Given the description of an element on the screen output the (x, y) to click on. 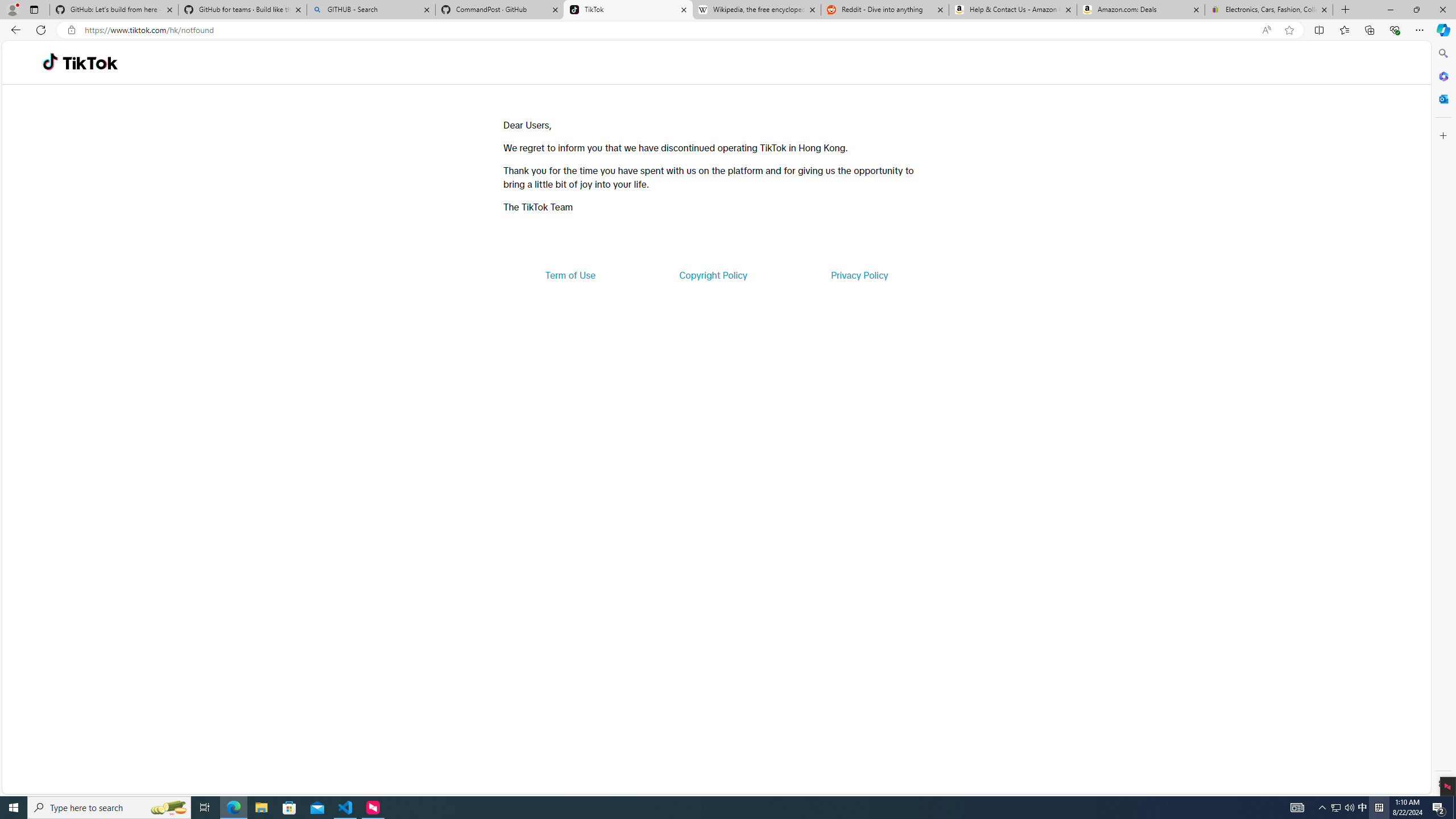
TikTok (628, 9)
Close Outlook pane (1442, 98)
Term of Use (569, 274)
GITHUB - Search (370, 9)
Reddit - Dive into anything (884, 9)
Wikipedia, the free encyclopedia (756, 9)
